Given the description of an element on the screen output the (x, y) to click on. 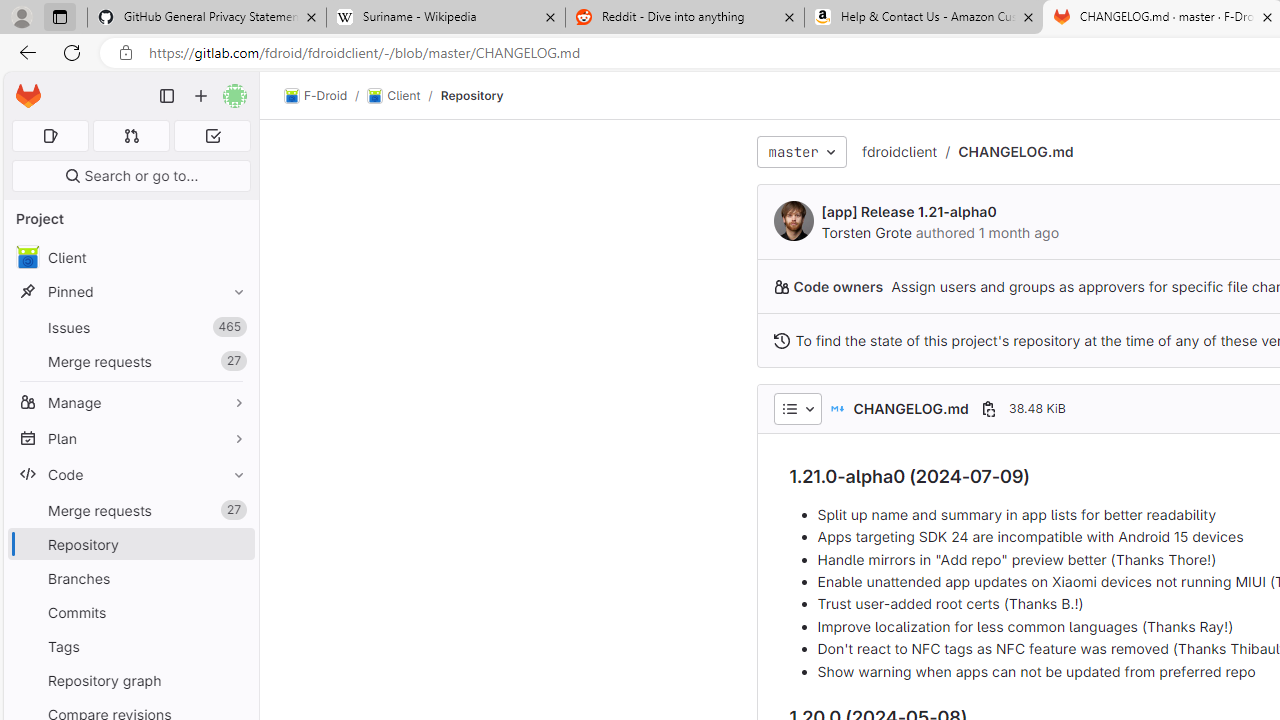
Commits (130, 612)
Torsten Grote (865, 232)
avatar Client (130, 257)
Skip to main content (23, 87)
Merge requests 0 (131, 136)
CHANGELOG.md (1015, 151)
Commits (130, 612)
Suriname - Wikipedia (445, 17)
Branches (130, 578)
GitHub General Privacy Statement - GitHub Docs (207, 17)
Plan (130, 438)
Client (130, 257)
fdroidclient (899, 151)
